Given the description of an element on the screen output the (x, y) to click on. 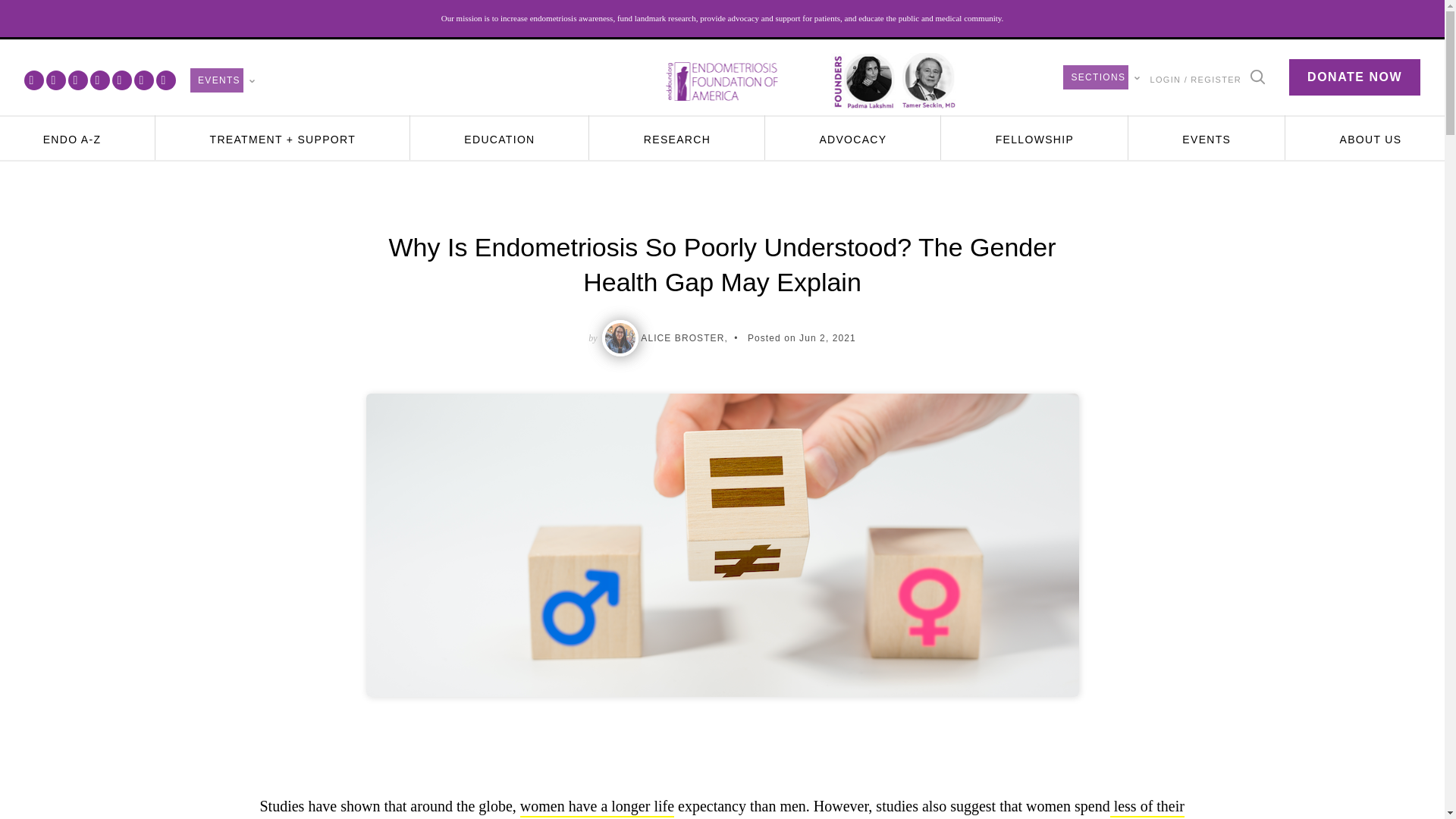
women have a longer life (596, 807)
ENDO A-Z (71, 139)
ALICE BROSTER, (683, 337)
RESEARCH (676, 139)
ADVOCACY (852, 139)
youtube (77, 80)
instagram (100, 80)
less of their lives in good health. (721, 808)
flickr (122, 80)
linkedin (165, 80)
EVENTS (1206, 139)
facebook (33, 80)
FELLOWSHIP (1034, 139)
EDUCATION (499, 139)
DONATE NOW (1354, 76)
